Given the description of an element on the screen output the (x, y) to click on. 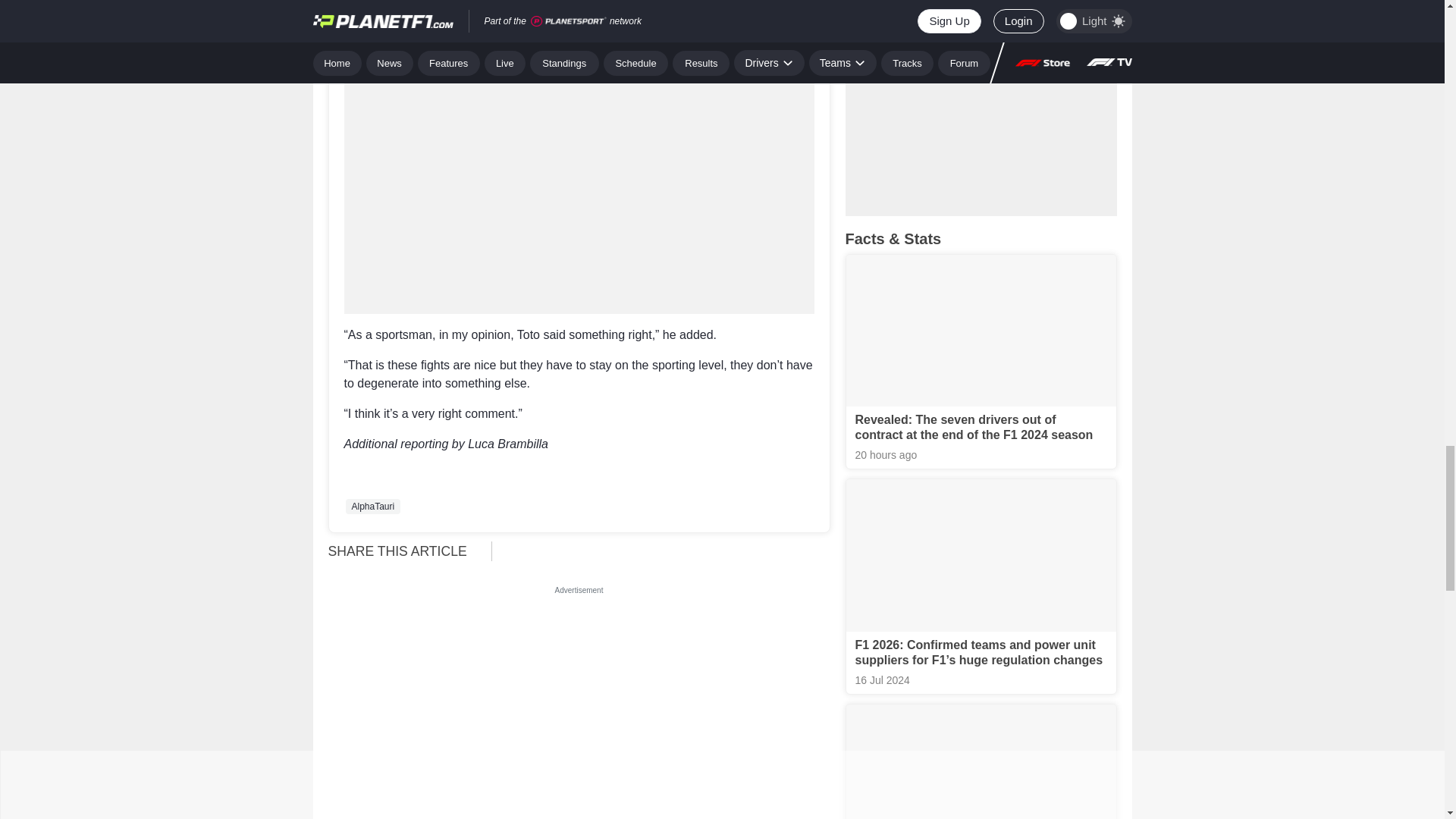
3rd party ad content (579, 693)
Vuukle Sharebar Widget (666, 550)
3rd party ad content (579, 15)
